Given the description of an element on the screen output the (x, y) to click on. 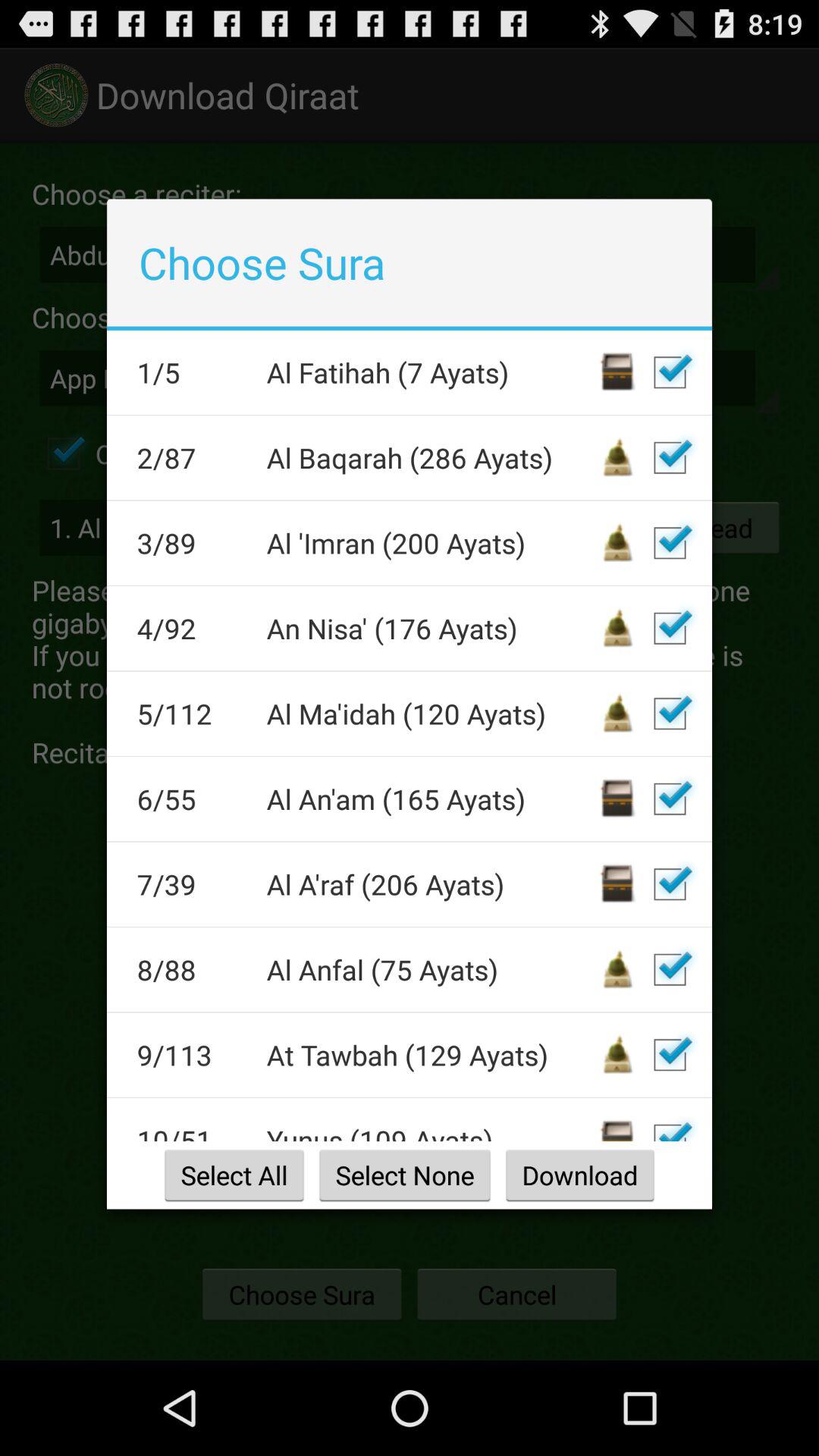
uncheck the selection (669, 969)
